Given the description of an element on the screen output the (x, y) to click on. 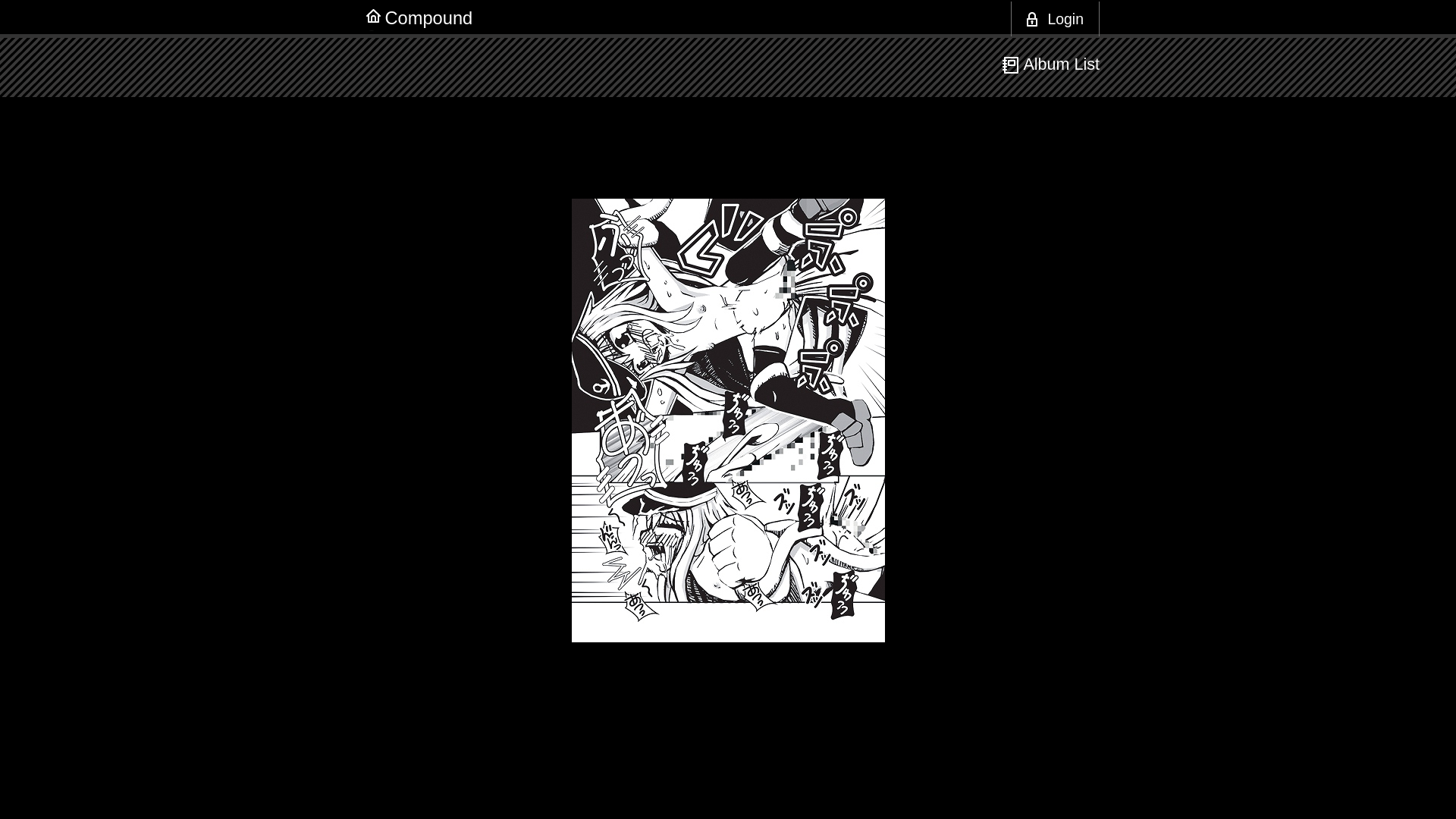
Login Element type: text (1054, 18)
Compound Element type: text (429, 18)
